Given the description of an element on the screen output the (x, y) to click on. 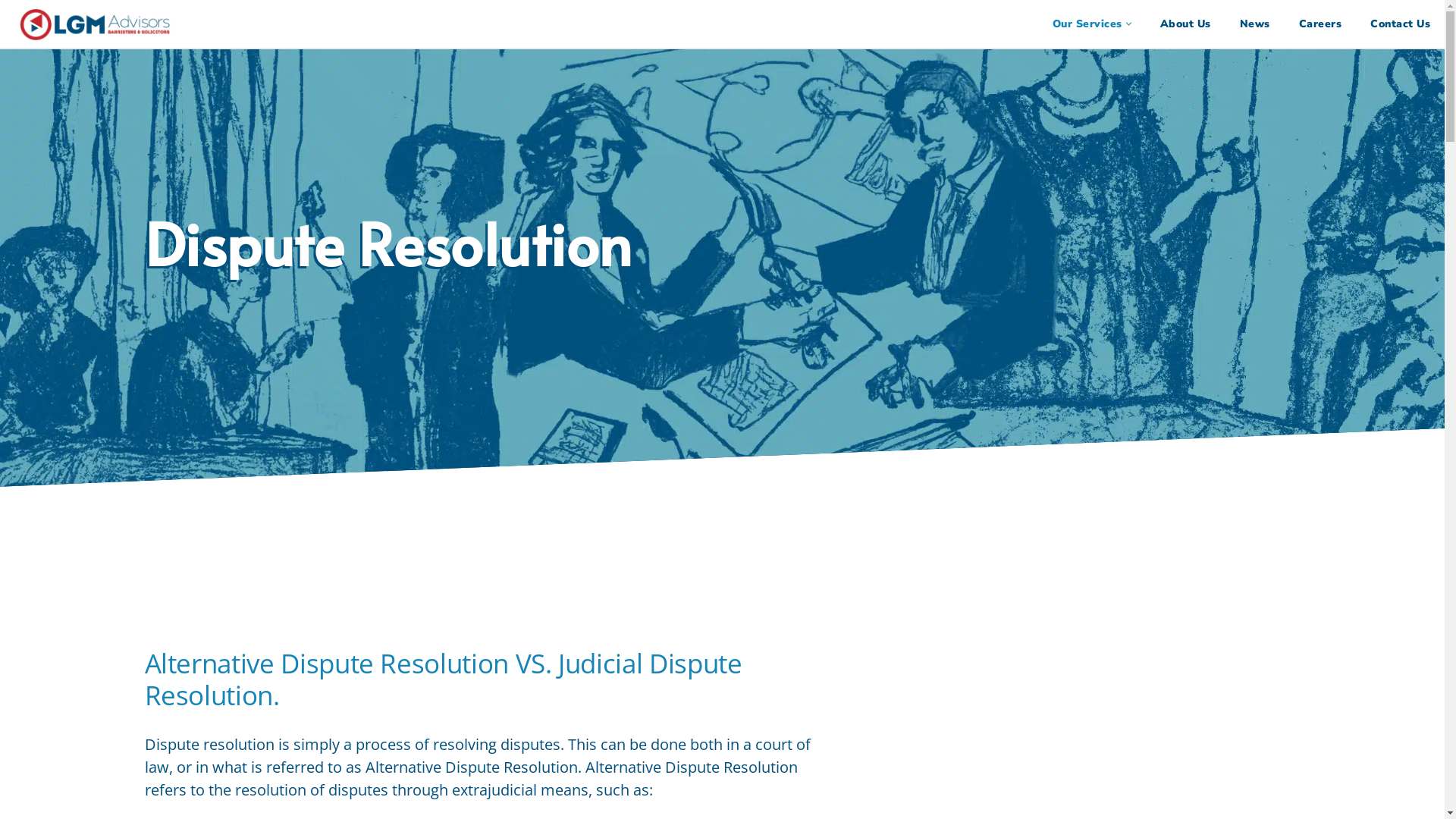
Our Services Element type: text (1087, 23)
Careers Element type: text (1319, 23)
News Element type: text (1254, 23)
About Us Element type: text (1185, 23)
Skip to content Element type: text (11, 31)
Contact Us Element type: text (1400, 23)
